Given the description of an element on the screen output the (x, y) to click on. 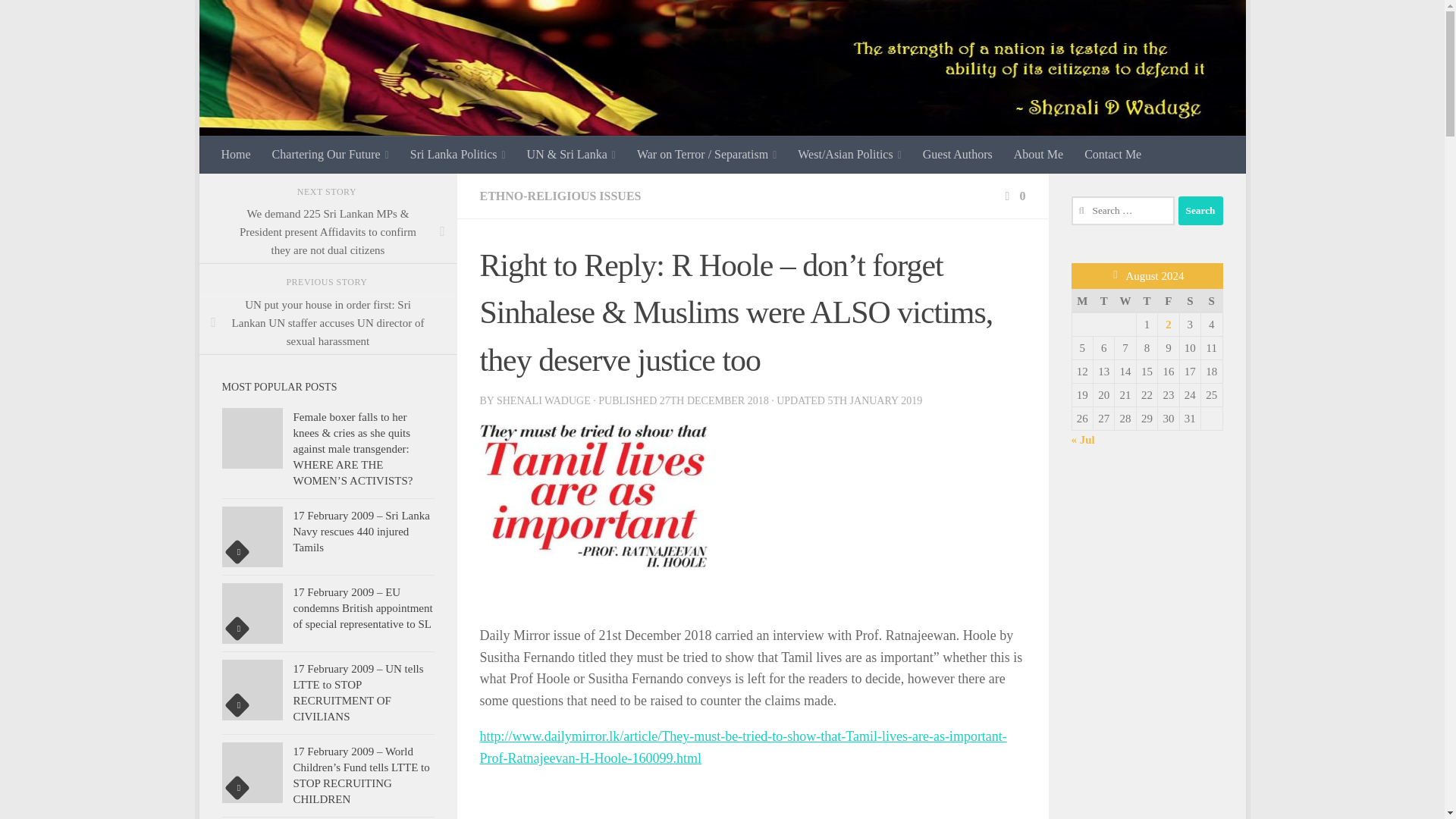
Search (1200, 210)
Chartering Our Future (330, 154)
Wednesday (1125, 300)
Search (1200, 210)
Home (236, 154)
Thursday (1146, 300)
Sri Lanka Politics (457, 154)
Skip to content (258, 20)
Sunday (1212, 300)
Monday (1082, 300)
